Given the description of an element on the screen output the (x, y) to click on. 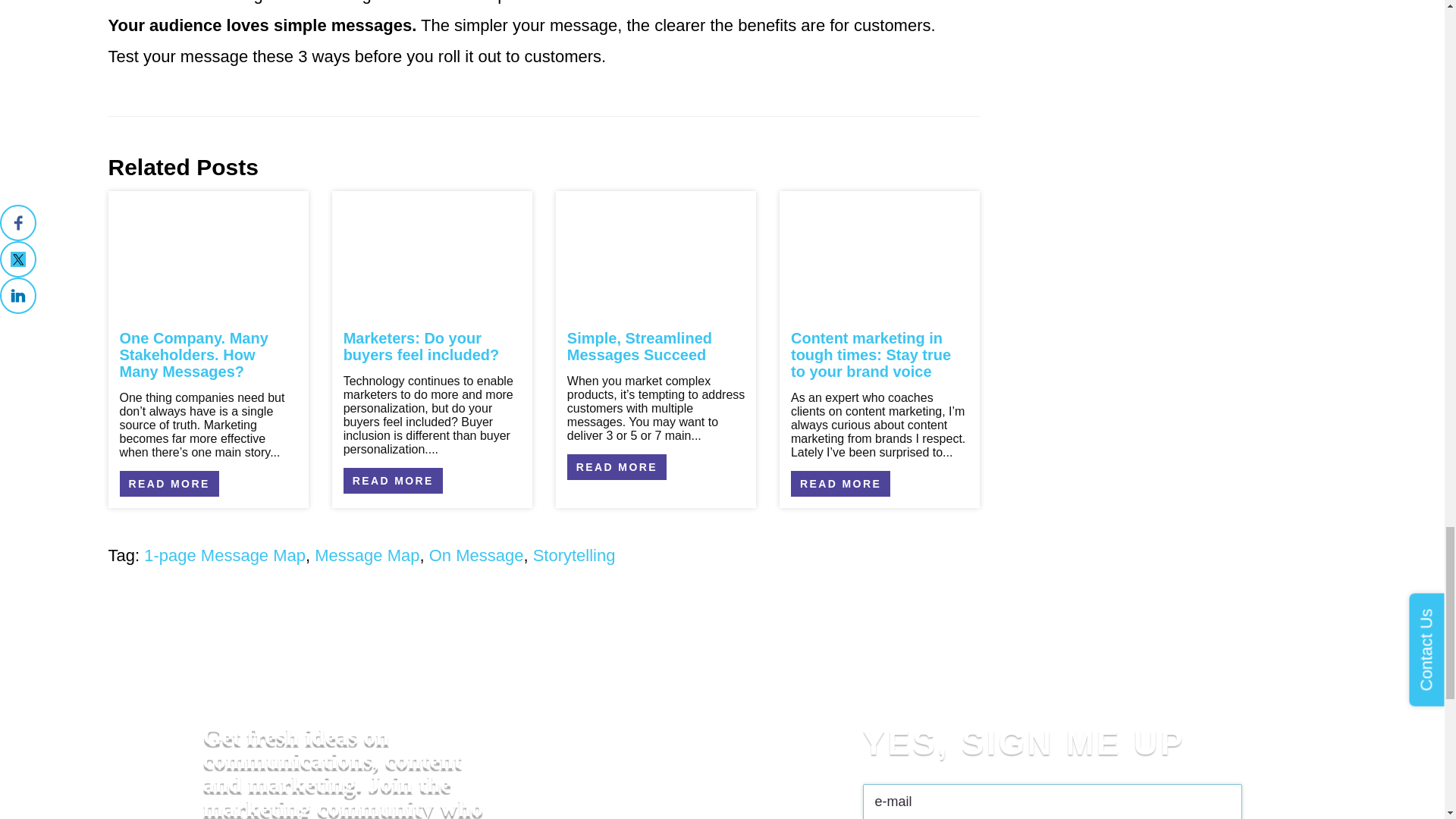
Marketers: Do your buyers feel included? (421, 346)
One Company. Many Stakeholders. How Many Messages? (193, 355)
1-page Message Map (224, 555)
One Company. Many Stakeholders. How Many Messages? (193, 355)
On Message (476, 555)
Message Map (366, 555)
Simple, Streamlined Messages Succeed (639, 346)
Storytelling (573, 555)
READ MORE (392, 480)
READ MORE (616, 466)
READ MORE (169, 483)
Marketers: Do your buyers feel included? (421, 346)
READ MORE (839, 483)
